Given the description of an element on the screen output the (x, y) to click on. 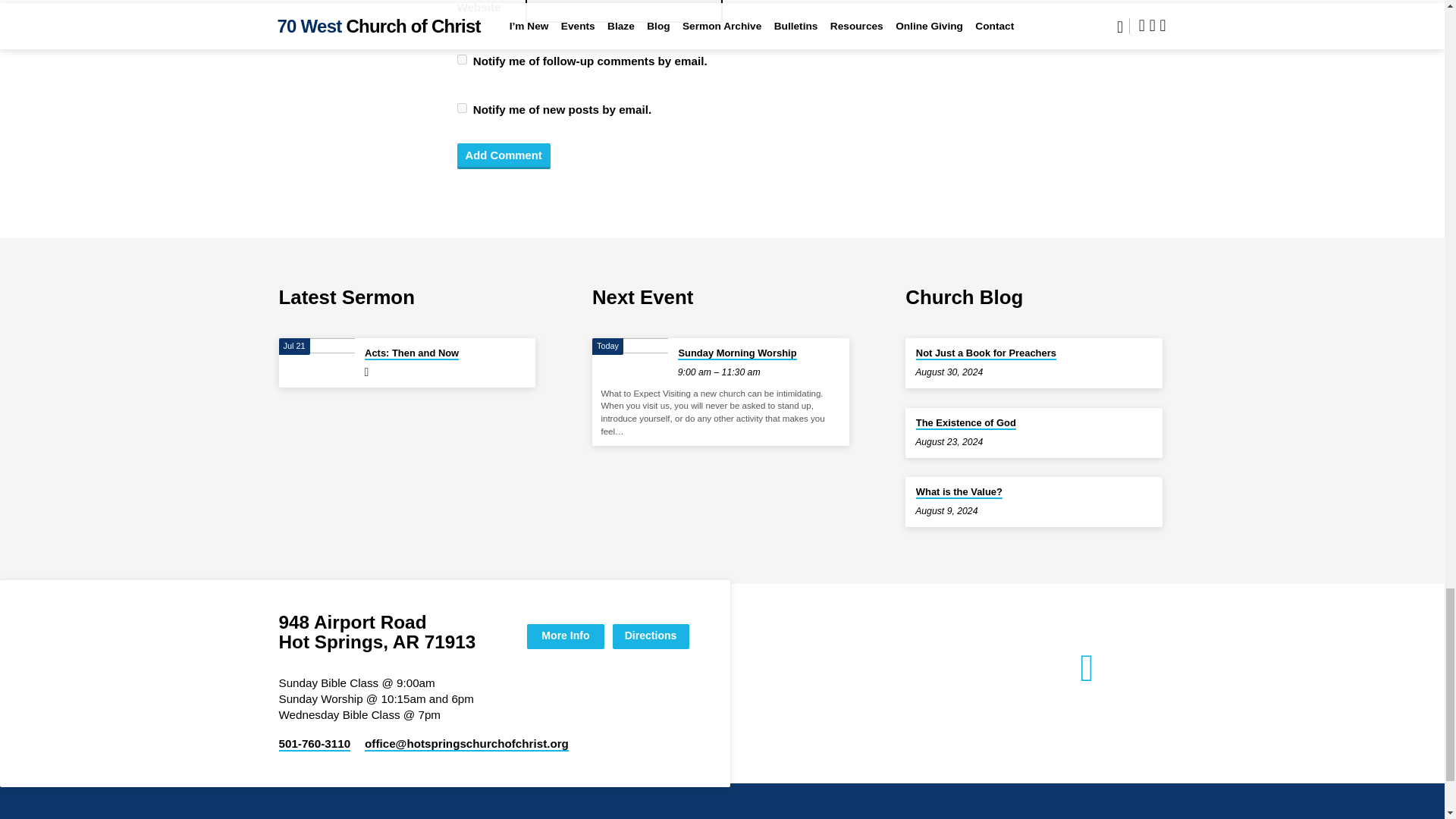
subscribe (461, 59)
subscribe (461, 108)
Add Comment (503, 156)
